Given the description of an element on the screen output the (x, y) to click on. 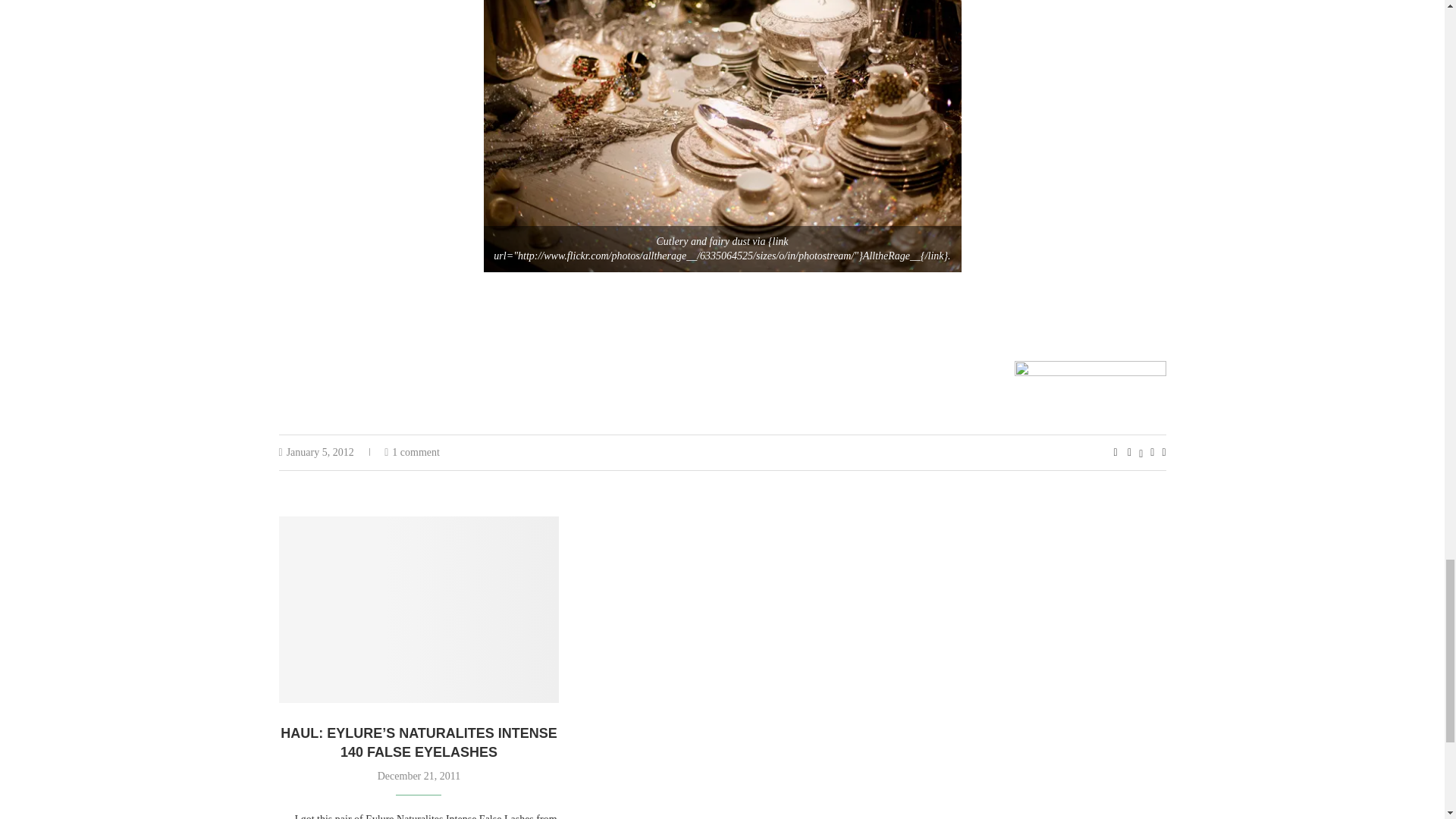
blogsignaturenew (1090, 391)
cutlery and fairy dust (721, 135)
1 comment (411, 451)
